Given the description of an element on the screen output the (x, y) to click on. 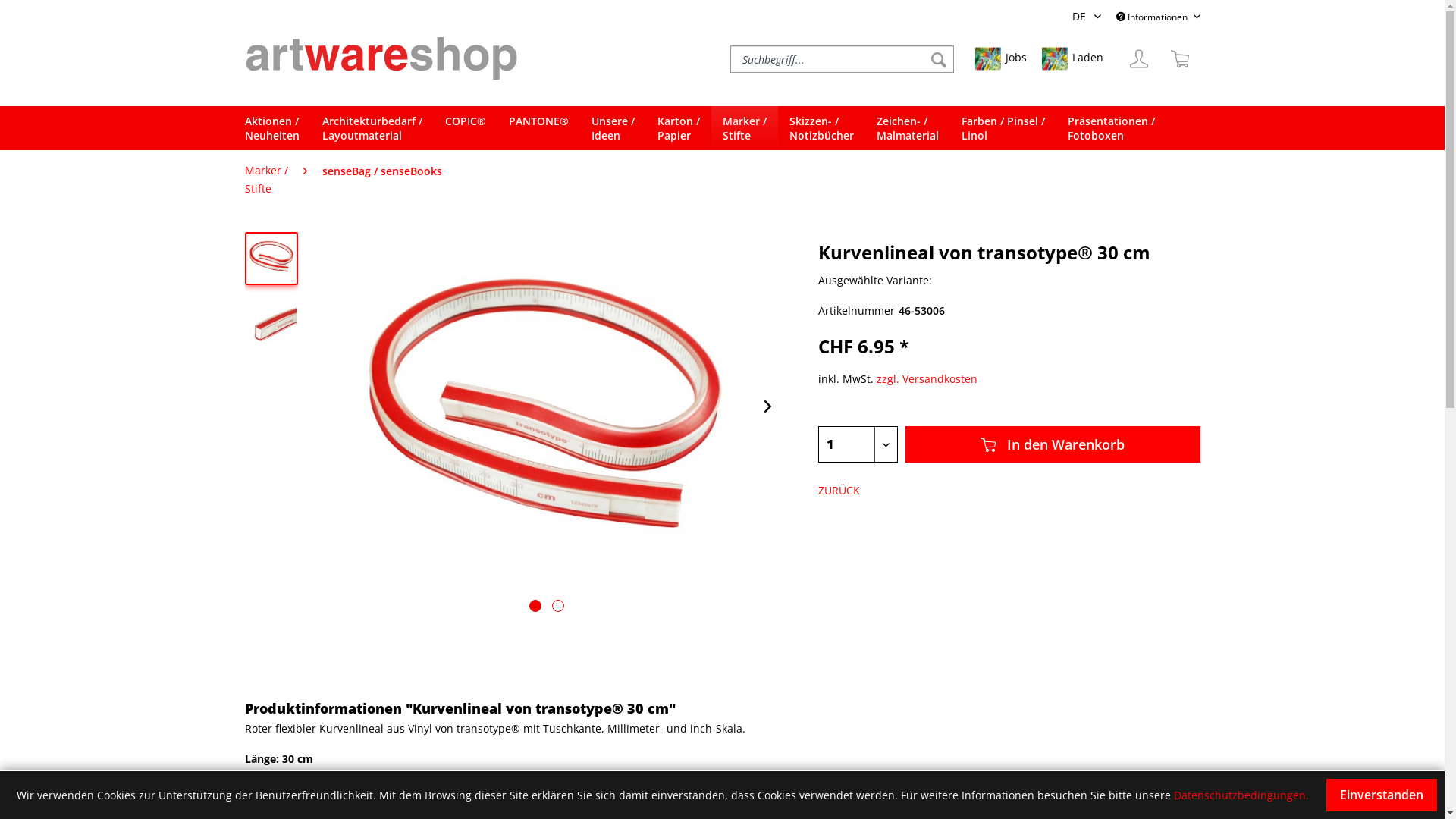
  Element type: text (535, 605)
artwareshop - zur Startseite wechseln Element type: hover (380, 57)
  Element type: text (558, 605)
Marker /
Stifte Element type: text (744, 128)
Farben / Pinsel /
Linol Element type: text (1002, 128)
Aktionen /
Neuheiten Element type: text (277, 128)
Laden Element type: text (1072, 59)
Unsere /
Ideen Element type: text (612, 128)
Mein Konto Element type: hover (1137, 59)
Architekturbedarf /
Layoutmaterial Element type: text (371, 128)
Marker /
Stifte Element type: text (265, 179)
Zeichen- /
Malmaterial Element type: text (906, 128)
Warenkorb Element type: hover (1178, 59)
zzgl. Versandkosten Element type: text (926, 378)
senseBag / senseBooks Element type: text (380, 170)
Karton /
Papier Element type: text (678, 128)
Datenschutzbedingungen. Element type: text (1240, 794)
Jobs Element type: text (1000, 59)
In den Warenkorb Element type: text (1052, 444)
Einverstanden Element type: text (1381, 794)
